Given the description of an element on the screen output the (x, y) to click on. 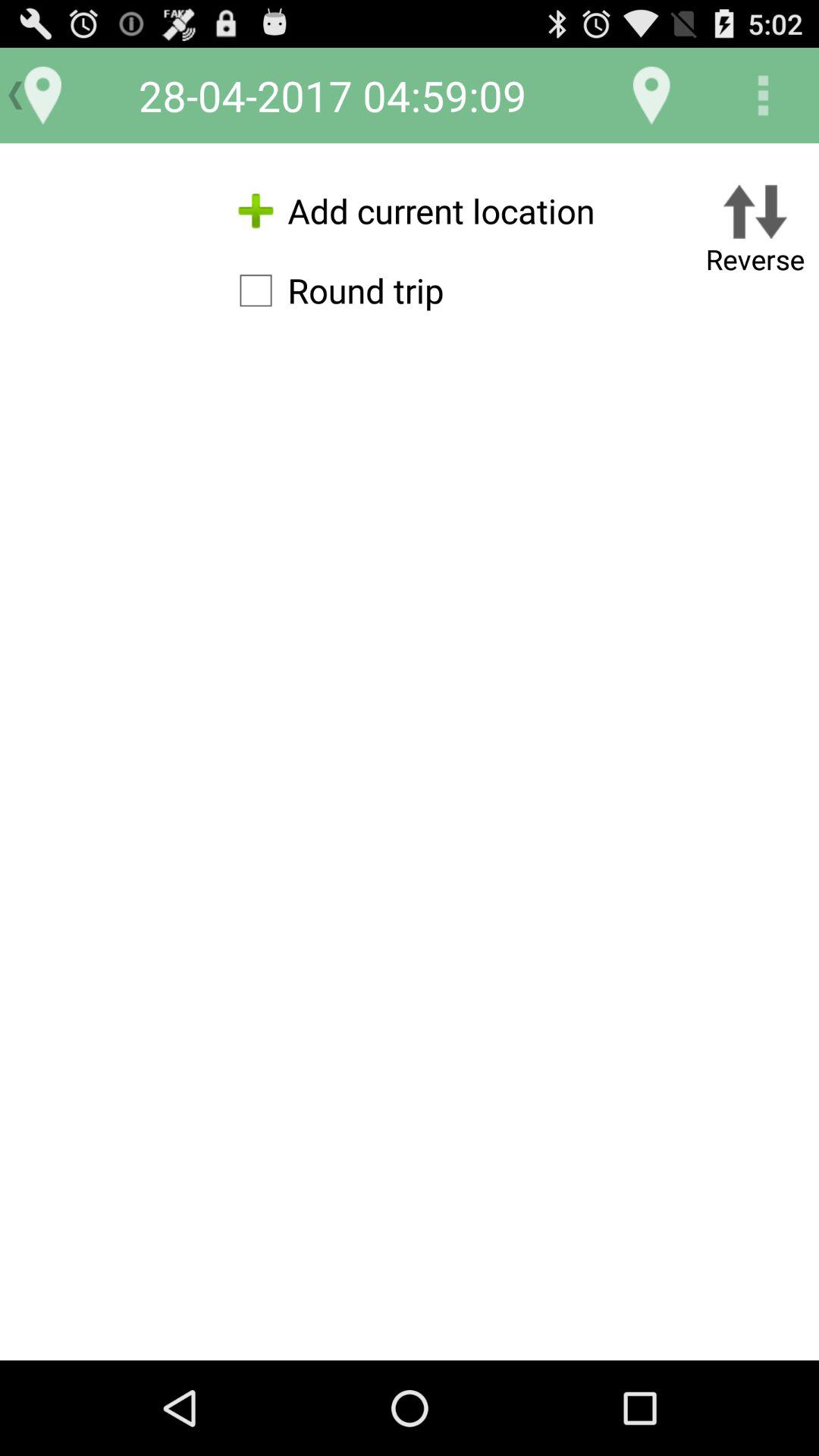
click item to the right of the 28 04 2017 app (651, 95)
